Given the description of an element on the screen output the (x, y) to click on. 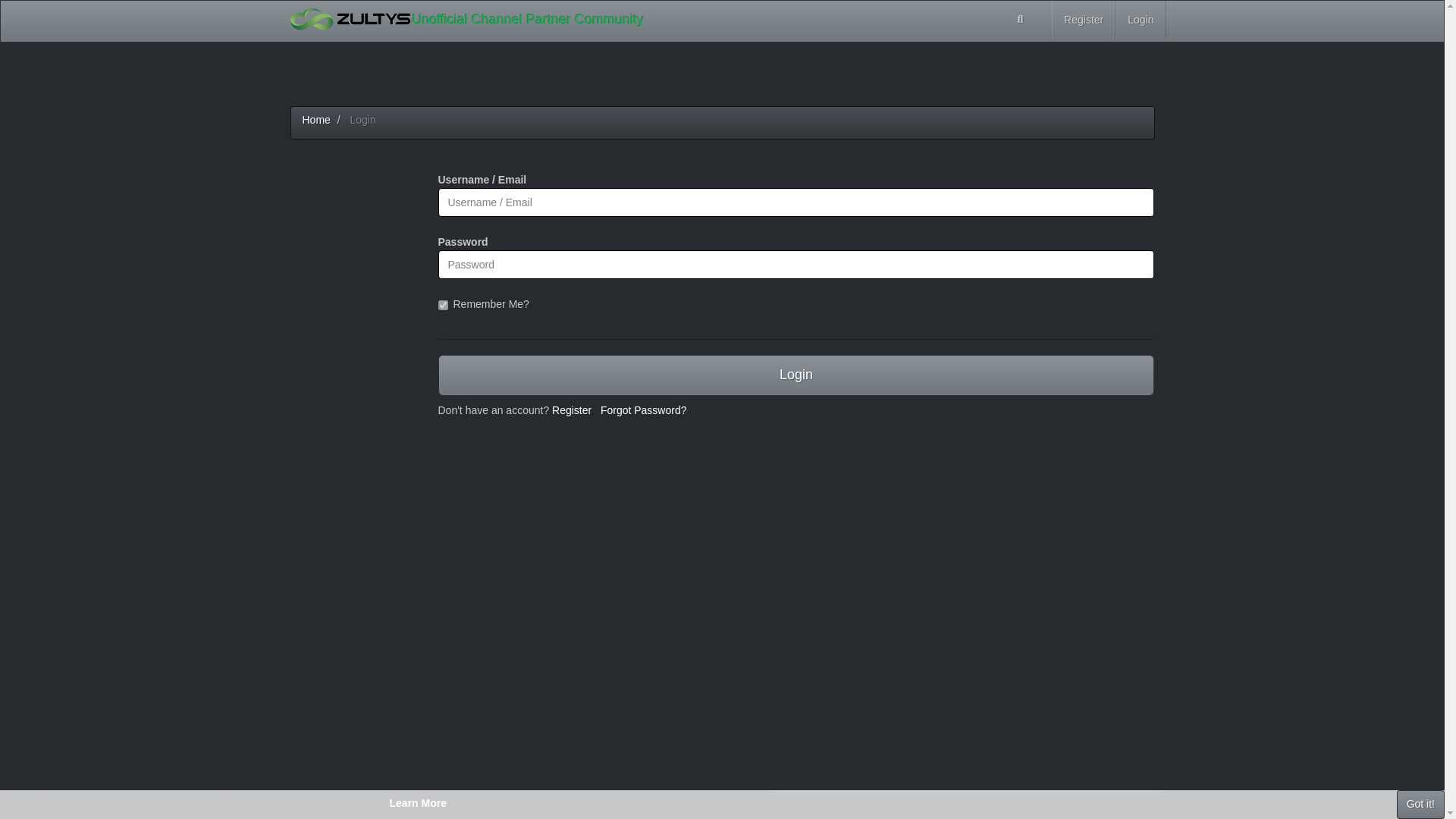
on (443, 305)
Login (796, 374)
Register (1083, 19)
Home (315, 119)
Search (1020, 19)
Login (1140, 19)
Forgot Password? (643, 410)
Register (571, 410)
